Given the description of an element on the screen output the (x, y) to click on. 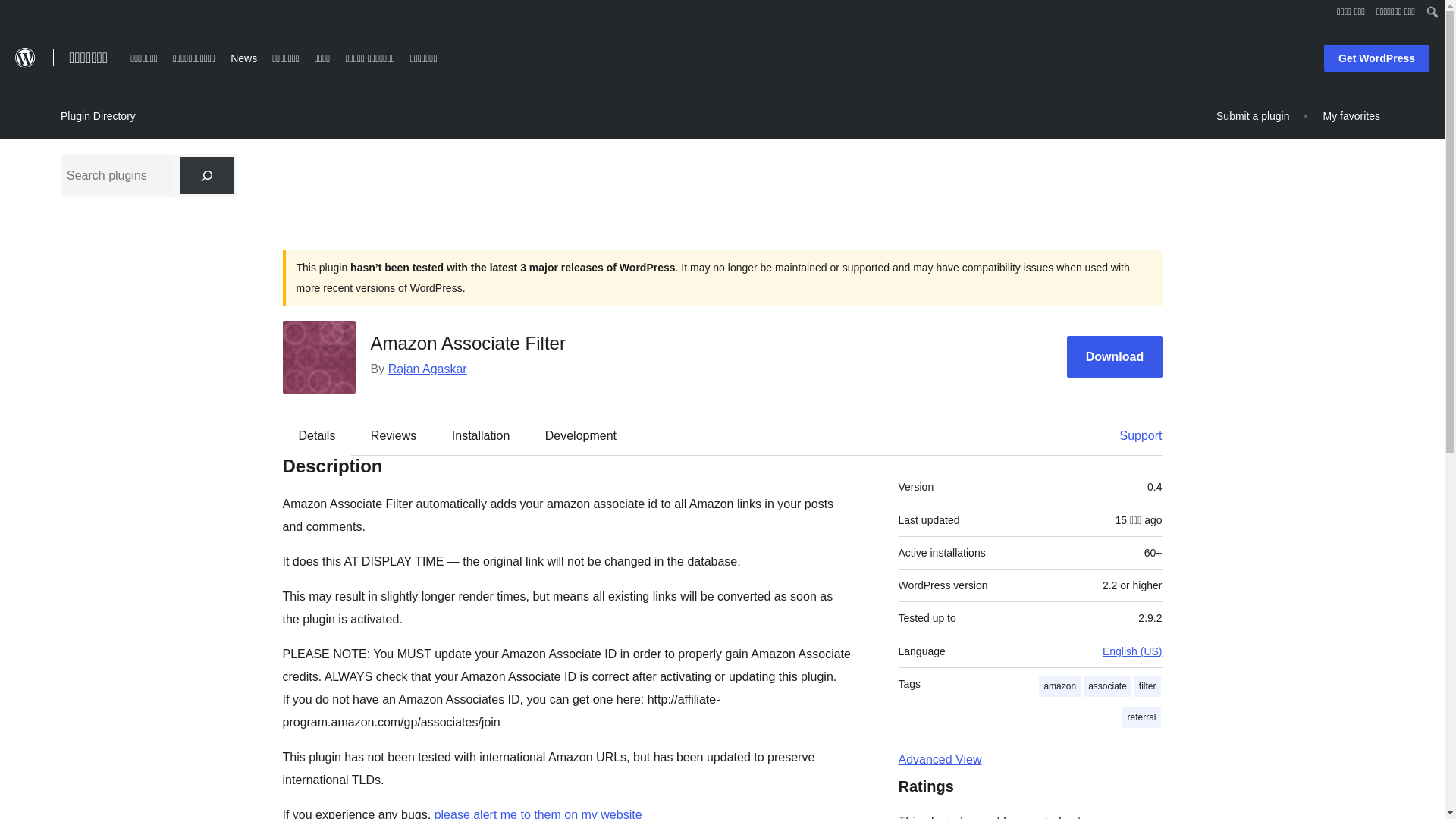
Rajan Agaskar (427, 368)
Download (1114, 356)
Installation (480, 435)
Reviews (392, 435)
Submit a plugin (1253, 115)
Development (580, 435)
please alert me to them on my website (537, 813)
Details (316, 435)
Plugin Directory (97, 116)
Get WordPress (1376, 58)
My favorites (1351, 115)
Support (1132, 435)
